Given the description of an element on the screen output the (x, y) to click on. 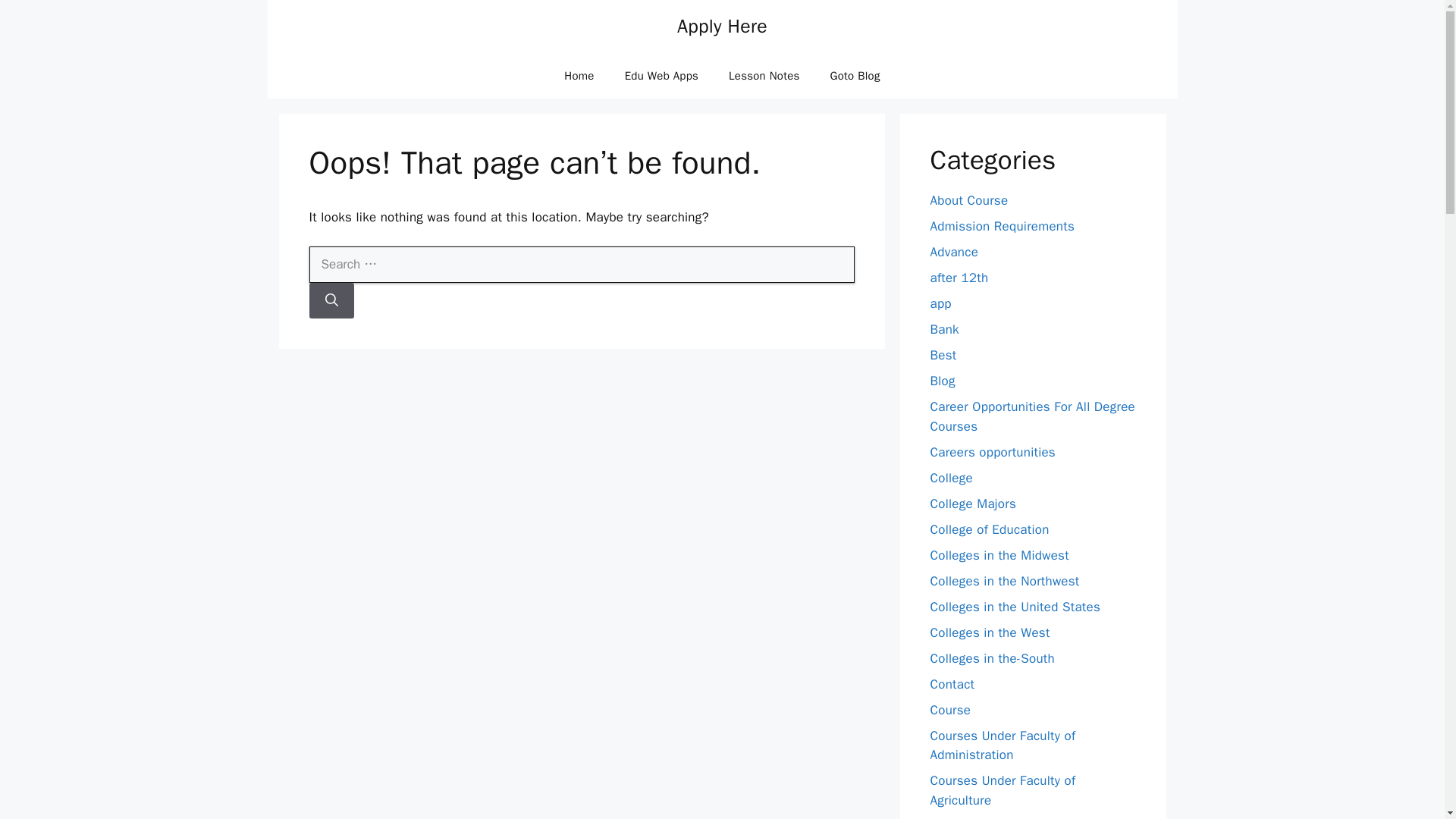
Colleges in the-South (992, 658)
Best (943, 355)
About Course (968, 200)
Colleges in the Midwest (999, 555)
Courses Under Faculty of Agriculture (1002, 790)
Colleges in the United States (1015, 606)
Lesson Notes (763, 75)
Course (950, 709)
Admission Requirements (1002, 226)
Career Opportunities For All Degree Courses (1032, 416)
